Given the description of an element on the screen output the (x, y) to click on. 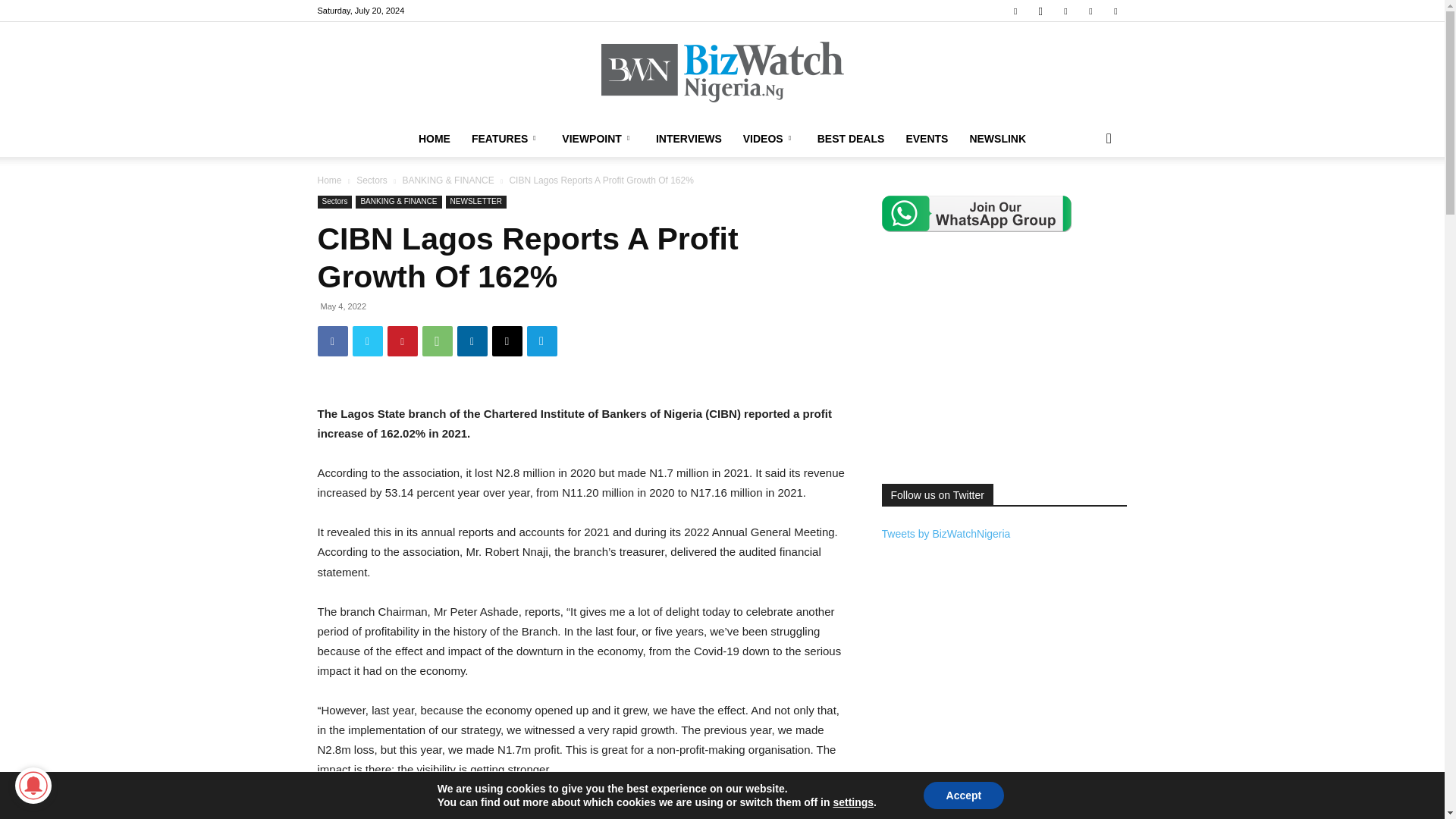
HOME (434, 138)
FEATURES (506, 138)
Youtube (1114, 10)
Instagram (1040, 10)
Twitter (1090, 10)
Linkedin (1065, 10)
Facebook (1015, 10)
